Given the description of an element on the screen output the (x, y) to click on. 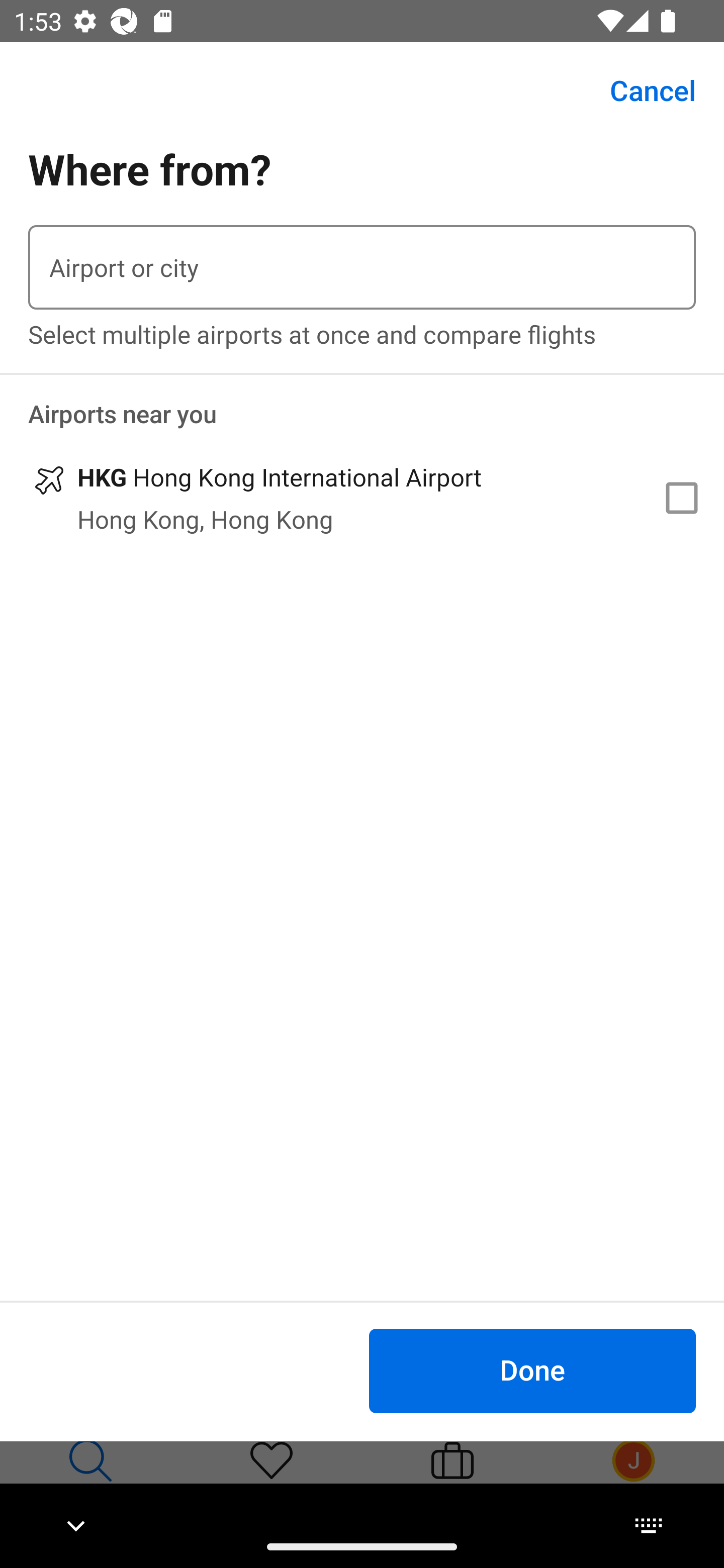
Cancel (641, 90)
Airport or city (361, 266)
Done (532, 1370)
